Given the description of an element on the screen output the (x, y) to click on. 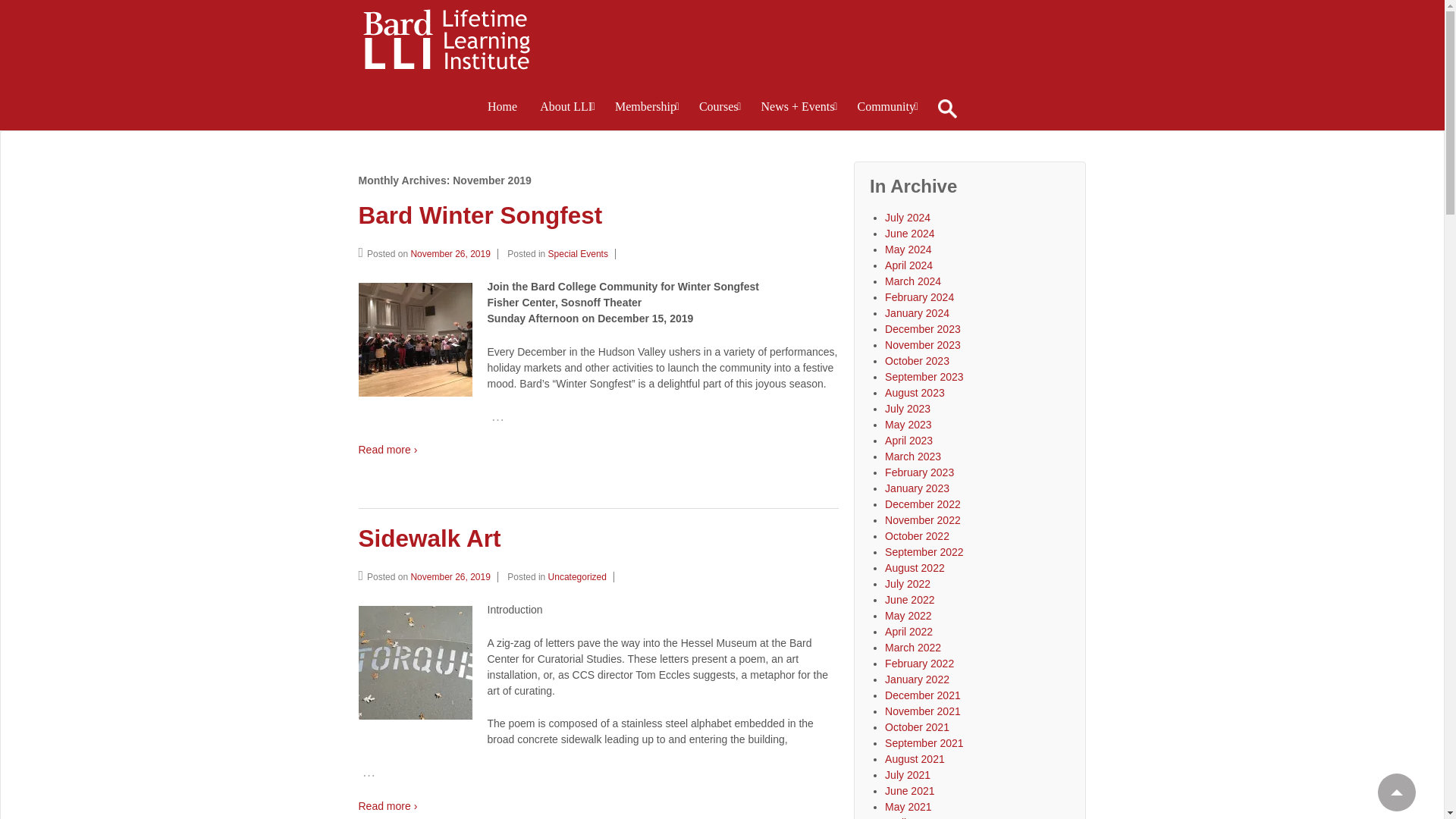
Bard Winter Songfest (453, 253)
Membership (645, 106)
Sidewalk Art (453, 576)
Home (502, 106)
Courses (718, 106)
About LLI (566, 106)
